Given the description of an element on the screen output the (x, y) to click on. 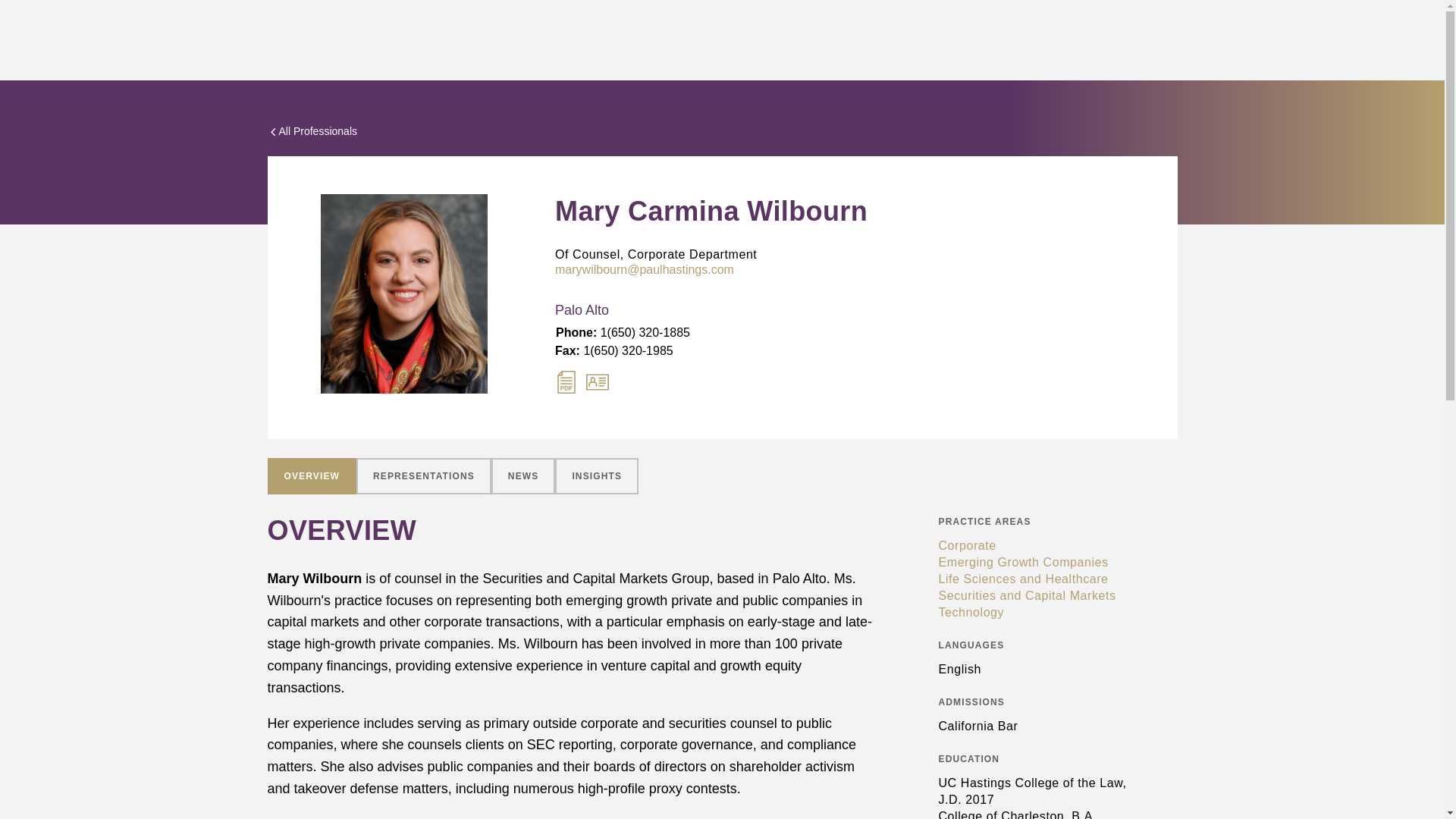
Life Sciences and Healthcare (1033, 579)
REPRESENTATIONS (424, 475)
OVERVIEW (311, 475)
Securities and Capital Markets (1033, 596)
Corporate (1033, 545)
Emerging Growth Companies (1033, 562)
Palo Alto (645, 310)
NEWS (524, 475)
Technology (1033, 612)
INSIGHTS (596, 475)
